Given the description of an element on the screen output the (x, y) to click on. 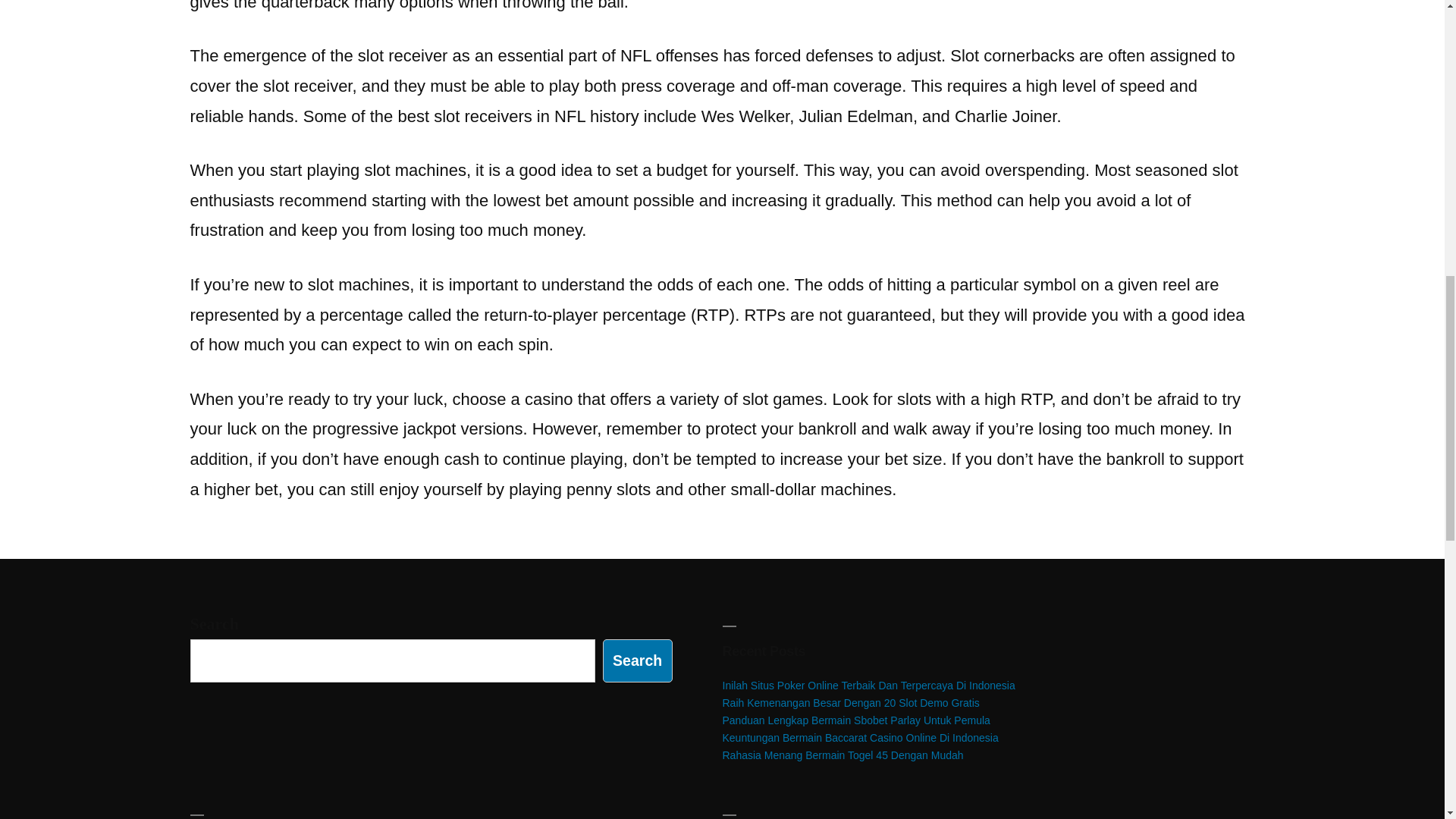
Rahasia Menang Bermain Togel 45 Dengan Mudah (842, 755)
Panduan Lengkap Bermain Sbobet Parlay Untuk Pemula (856, 720)
Search (637, 660)
Raih Kemenangan Besar Dengan 20 Slot Demo Gratis (850, 702)
Keuntungan Bermain Baccarat Casino Online Di Indonesia (859, 737)
